Given the description of an element on the screen output the (x, y) to click on. 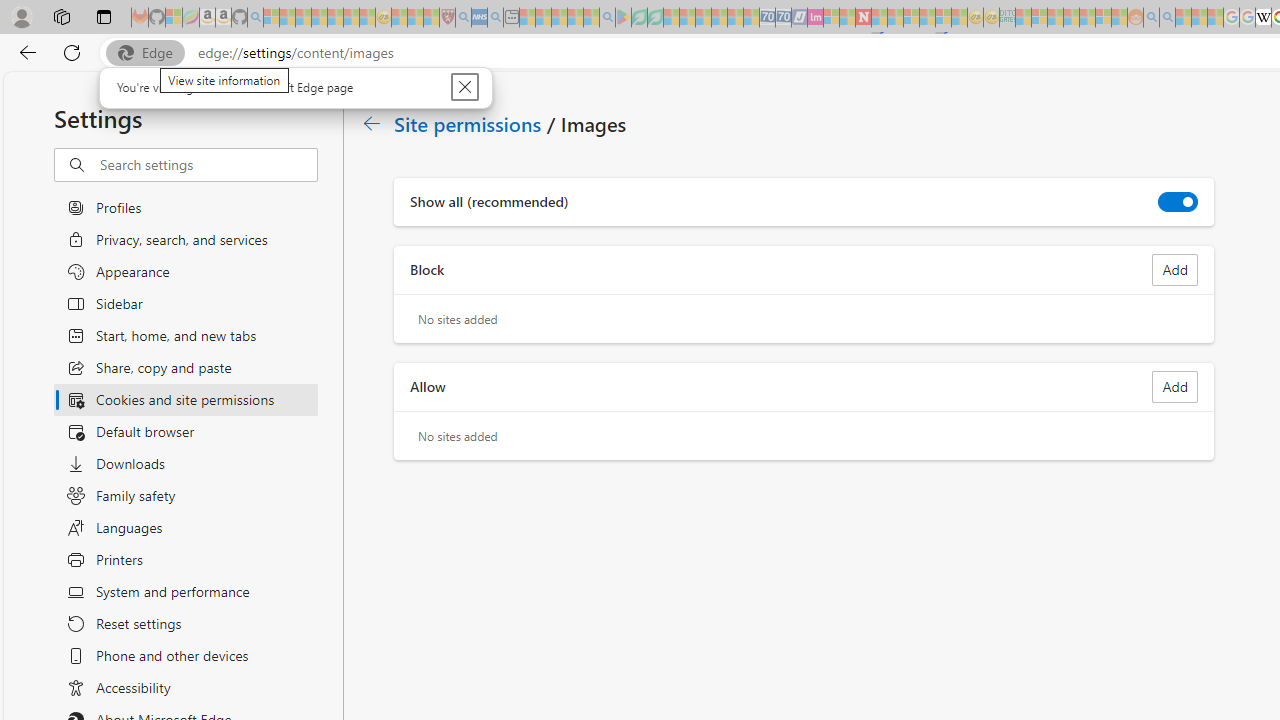
Add site to Allow list (1175, 386)
utah sues federal government - Search - Sleeping (495, 17)
